Given the description of an element on the screen output the (x, y) to click on. 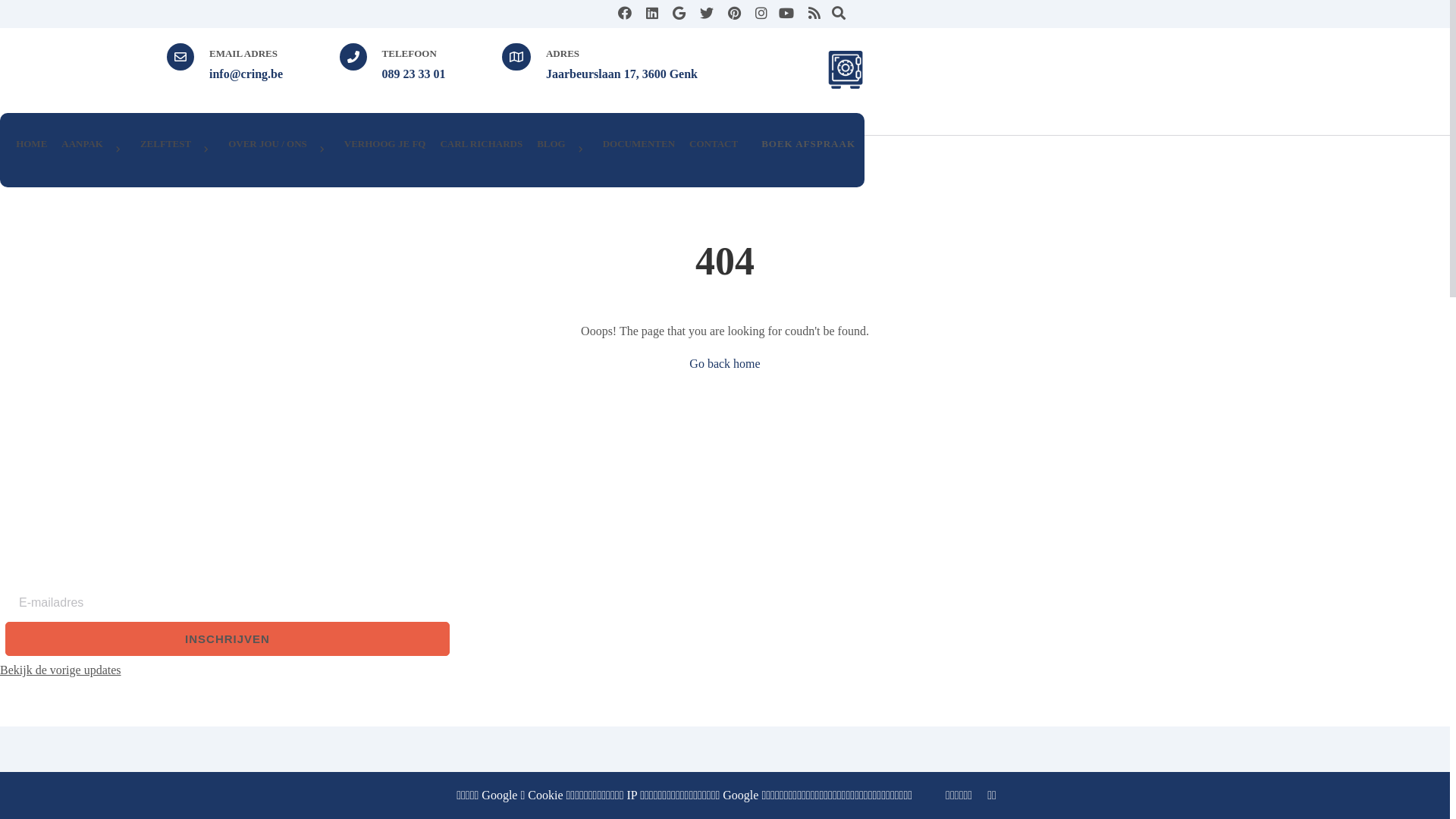
OVER JOU / ONS Element type: text (278, 149)
CARL RICHARDS Element type: text (480, 142)
CONTACT Element type: text (713, 142)
ZELFTEST Element type: text (176, 149)
VERHOOG JE FQ Element type: text (385, 142)
BOEK AFSPRAAK Element type: text (808, 149)
Go back home Element type: text (724, 363)
BLOG Element type: text (562, 149)
HOME Element type: text (31, 142)
089 23 33 01 Element type: text (413, 73)
AANPAK Element type: text (93, 149)
INSCHRIJVEN Element type: text (227, 638)
info@cring.be Element type: text (245, 73)
Jaarbeurslaan 17, 3600 Genk Element type: text (621, 73)
Bekijk de vorige updates Element type: text (227, 669)
DOCUMENTEN Element type: text (638, 142)
